Given the description of an element on the screen output the (x, y) to click on. 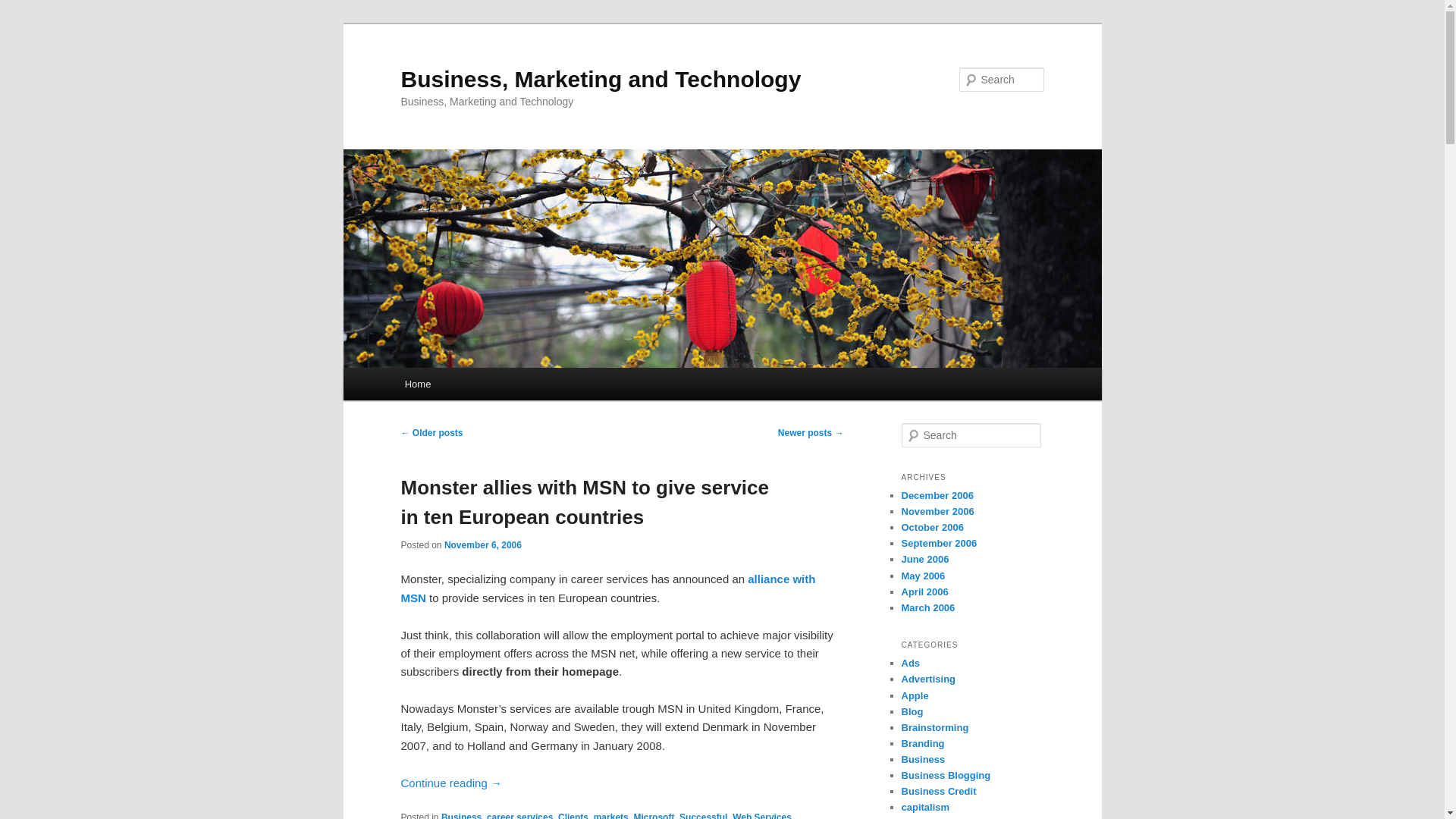
Search (24, 8)
Business (461, 815)
November 6, 2006 (482, 544)
career services (519, 815)
Monster allies with MSN (607, 587)
Business, Marketing and Technology (600, 78)
alliance with MSN (607, 587)
2:51 am (482, 544)
markets (611, 815)
